Given the description of an element on the screen output the (x, y) to click on. 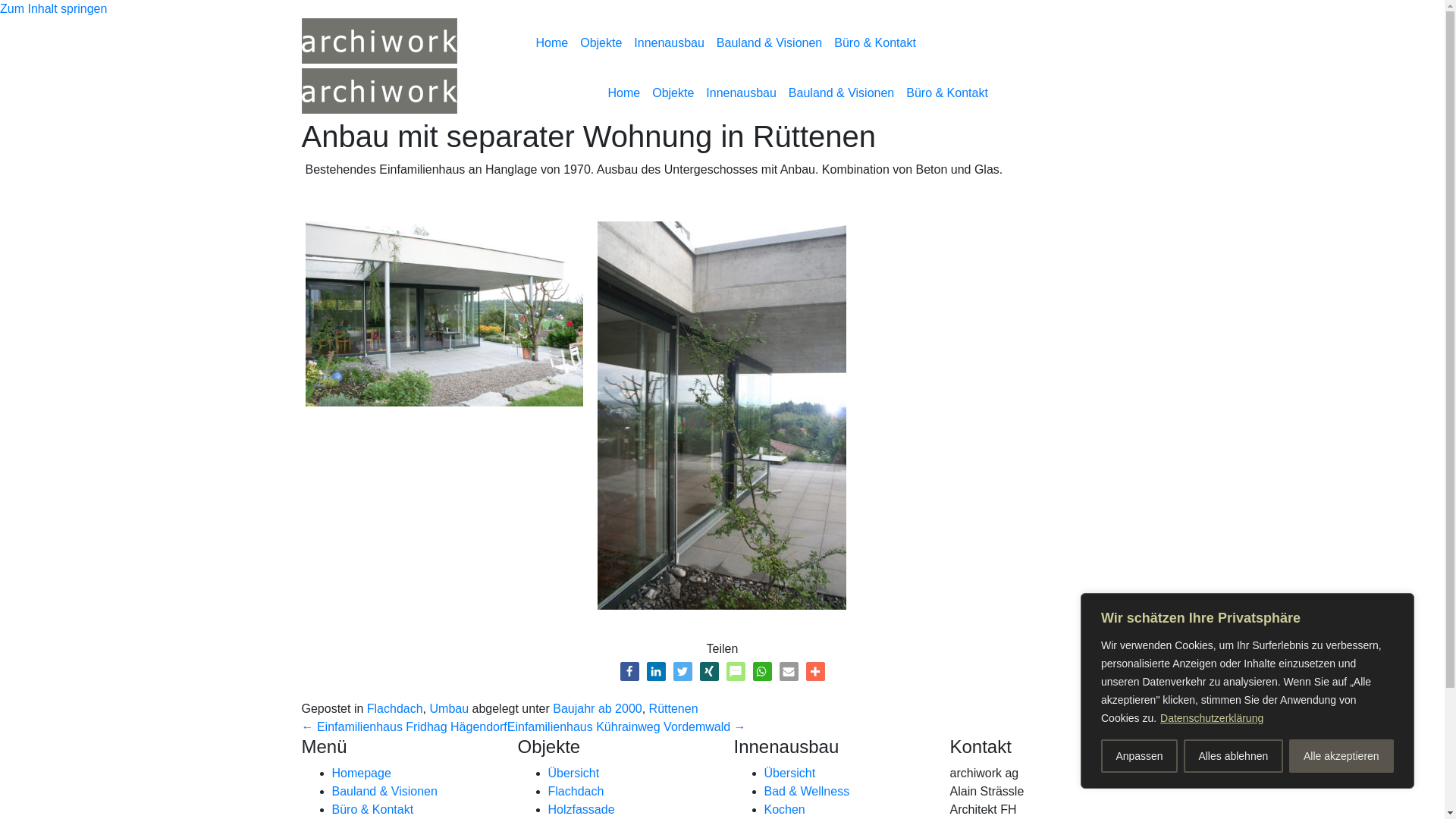
Bauland & Visionen Element type: text (841, 93)
Bei Twitter teilen Element type: hover (682, 671)
Innenausbau Element type: text (668, 43)
Alle akzeptieren Element type: text (1341, 755)
Bad & Wellness Element type: text (807, 790)
Objekte Element type: text (672, 93)
Home Element type: text (624, 93)
Home Element type: text (551, 43)
Innenausbau Element type: text (740, 93)
Bauland & Visionen Element type: text (769, 43)
Flachdach Element type: text (575, 790)
Anpassen Element type: text (1139, 755)
Objekte Element type: text (600, 43)
Per SMS teilen Element type: hover (735, 671)
Umbau Element type: text (448, 708)
Holzfassade Element type: text (580, 809)
Bei Whatsapp teilen Element type: hover (761, 671)
Bei XING teilen Element type: hover (708, 671)
Kochen Element type: text (784, 809)
Flachdach Element type: text (395, 708)
Zum Inhalt springen Element type: text (53, 8)
Bauland & Visionen Element type: text (384, 790)
Bei Facebook teilen Element type: hover (629, 671)
Bei AddThis teilen Element type: hover (814, 671)
Baujahr ab 2000 Element type: text (596, 708)
Per E-Mail versenden Element type: hover (788, 671)
Alles ablehnen Element type: text (1233, 755)
Bei LinkedIn teilen Element type: hover (655, 671)
Homepage Element type: text (361, 772)
